Given the description of an element on the screen output the (x, y) to click on. 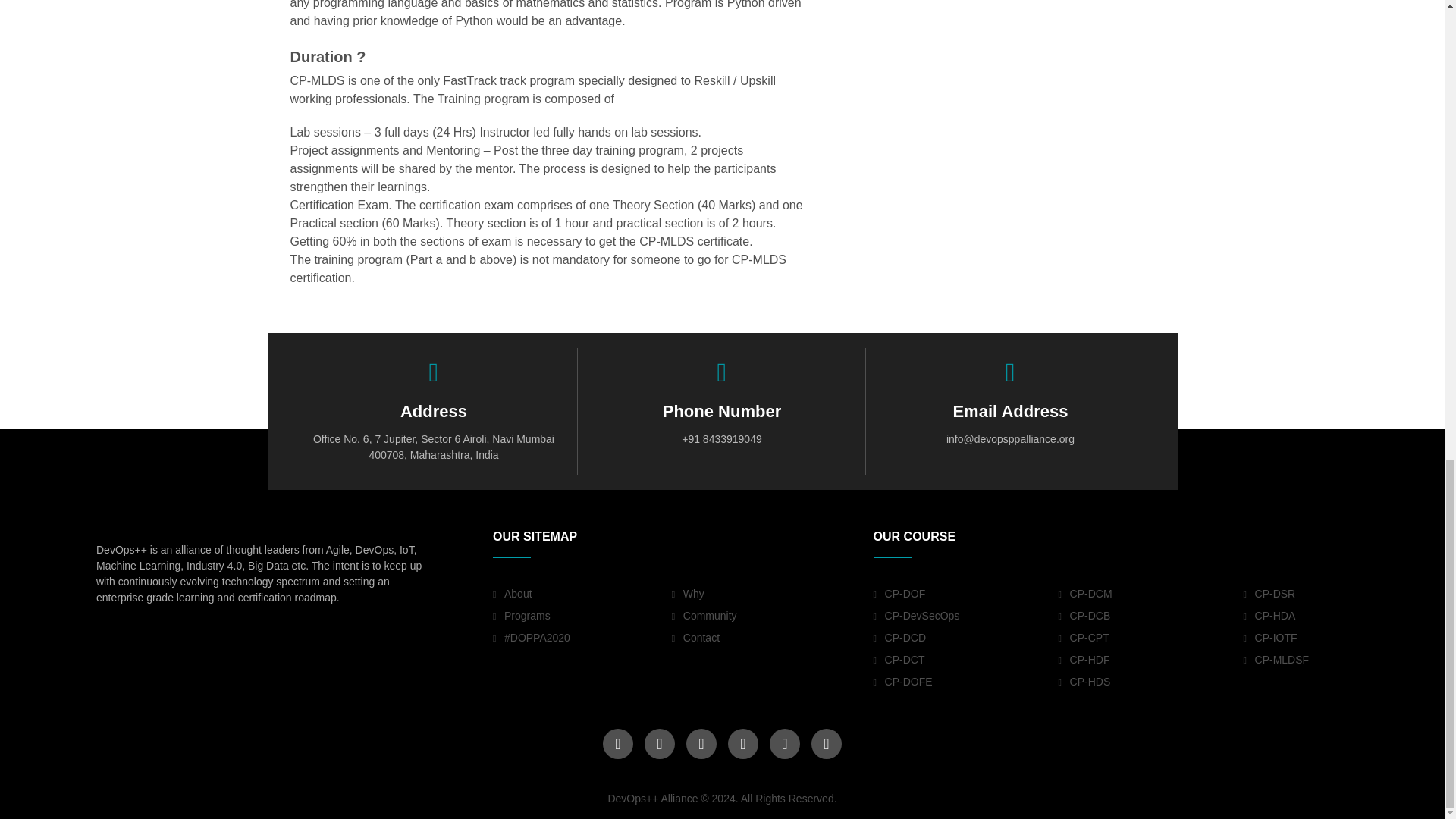
CP-DCB (1150, 615)
CP-DOFE (965, 681)
About (582, 593)
Community (760, 615)
CP-HDF (1150, 659)
Why (760, 593)
CP-CPT (1150, 637)
Contact (760, 637)
CP-DSR (1335, 593)
CP-DCT (965, 659)
